Given the description of an element on the screen output the (x, y) to click on. 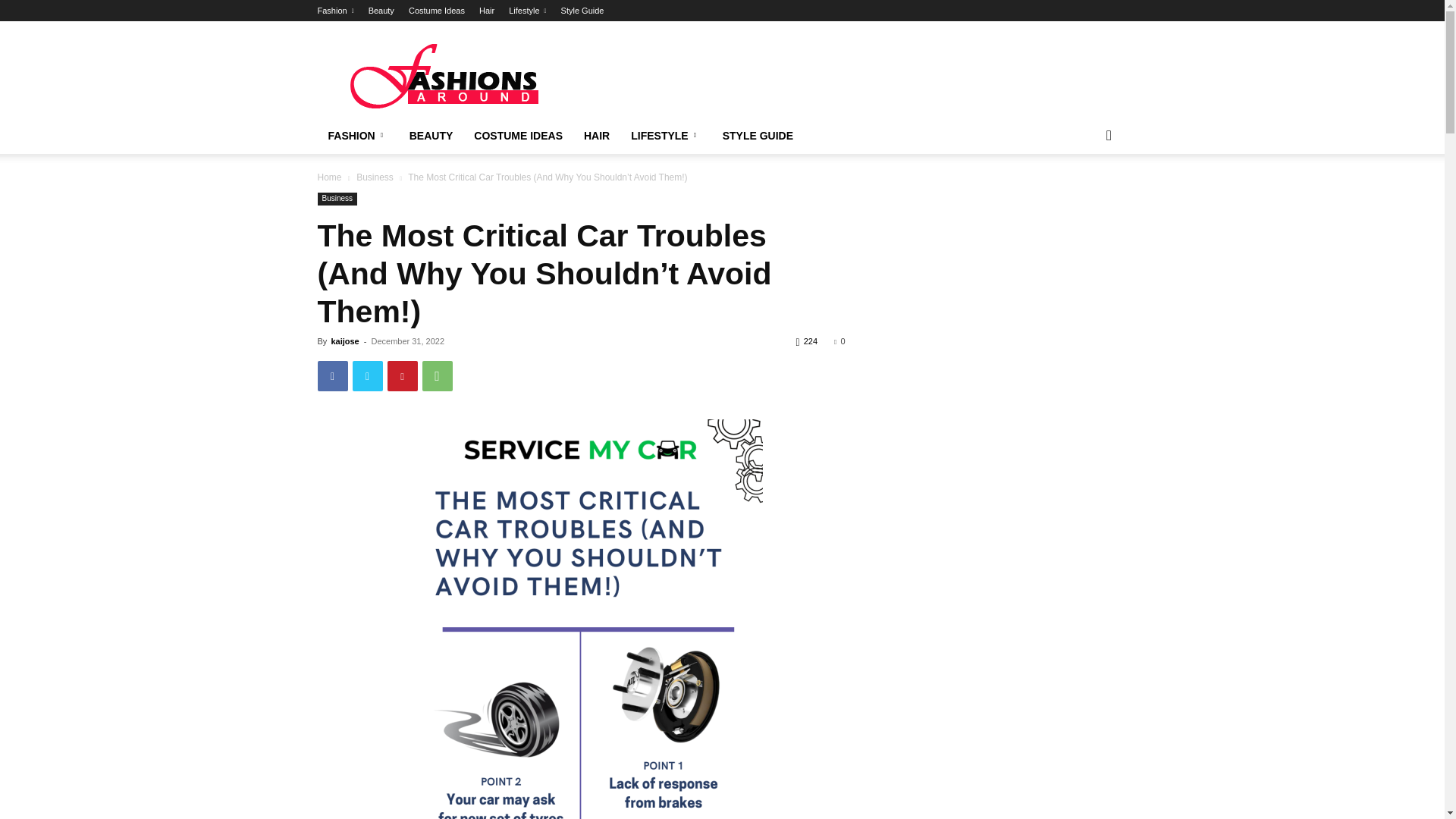
LIFESTYLE (665, 135)
Pinterest (401, 376)
View all posts in Business (374, 176)
Beauty (381, 10)
Facebook (332, 376)
Fashion (335, 10)
Hair (487, 10)
BEAUTY (431, 135)
HAIR (596, 135)
Costume Ideas (436, 10)
COSTUME IDEAS (518, 135)
FASHION (357, 135)
Lifestyle (527, 10)
WhatsApp (436, 376)
Style Guide (582, 10)
